Given the description of an element on the screen output the (x, y) to click on. 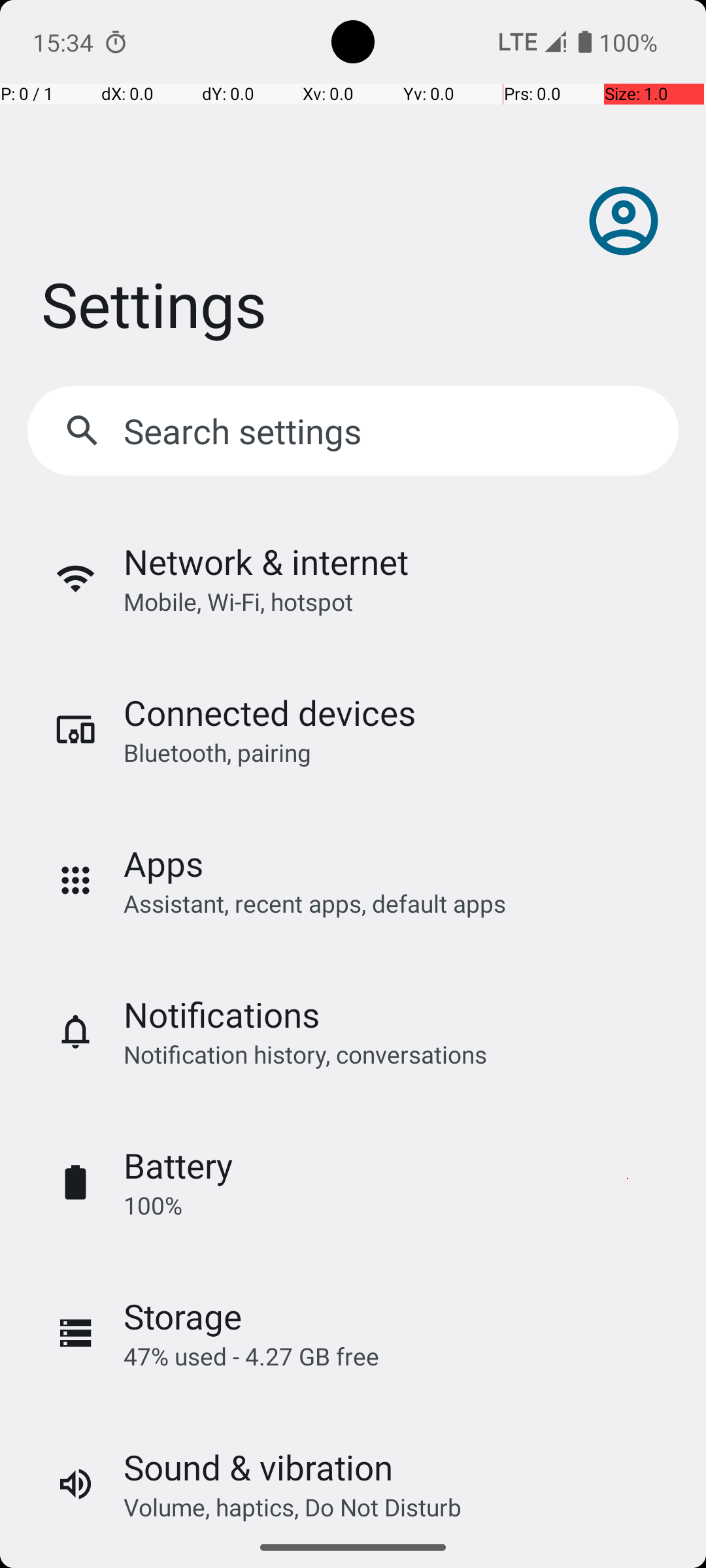
47% used - 4.27 GB free Element type: android.widget.TextView (251, 1355)
